Given the description of an element on the screen output the (x, y) to click on. 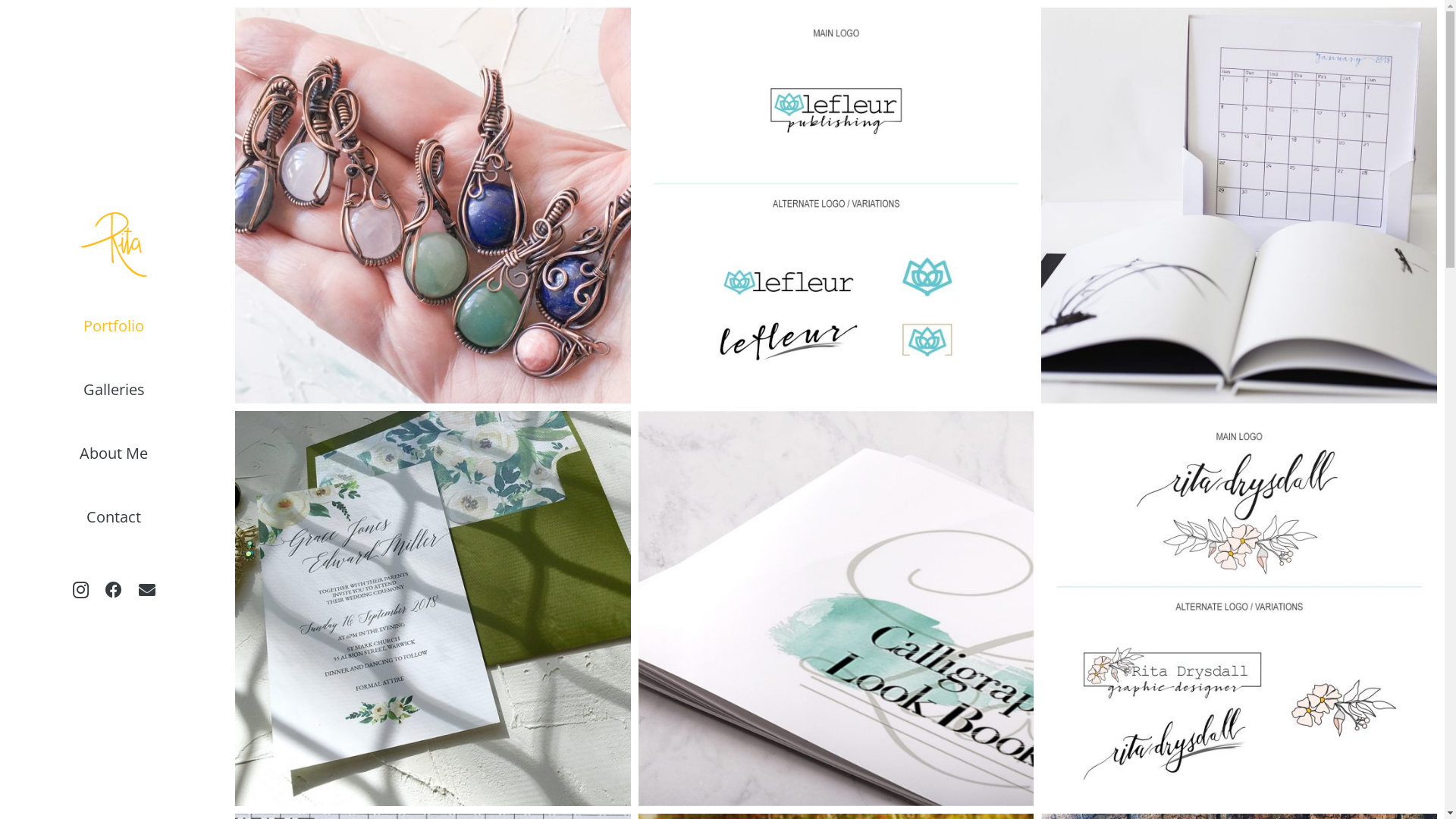
Galleries Element type: text (113, 389)
Portfolio Element type: text (113, 325)
Facebook Element type: hover (113, 589)
Email Element type: hover (146, 589)
Instagram Element type: hover (80, 589)
Contact Element type: text (113, 517)
About Me Element type: text (113, 453)
